Given the description of an element on the screen output the (x, y) to click on. 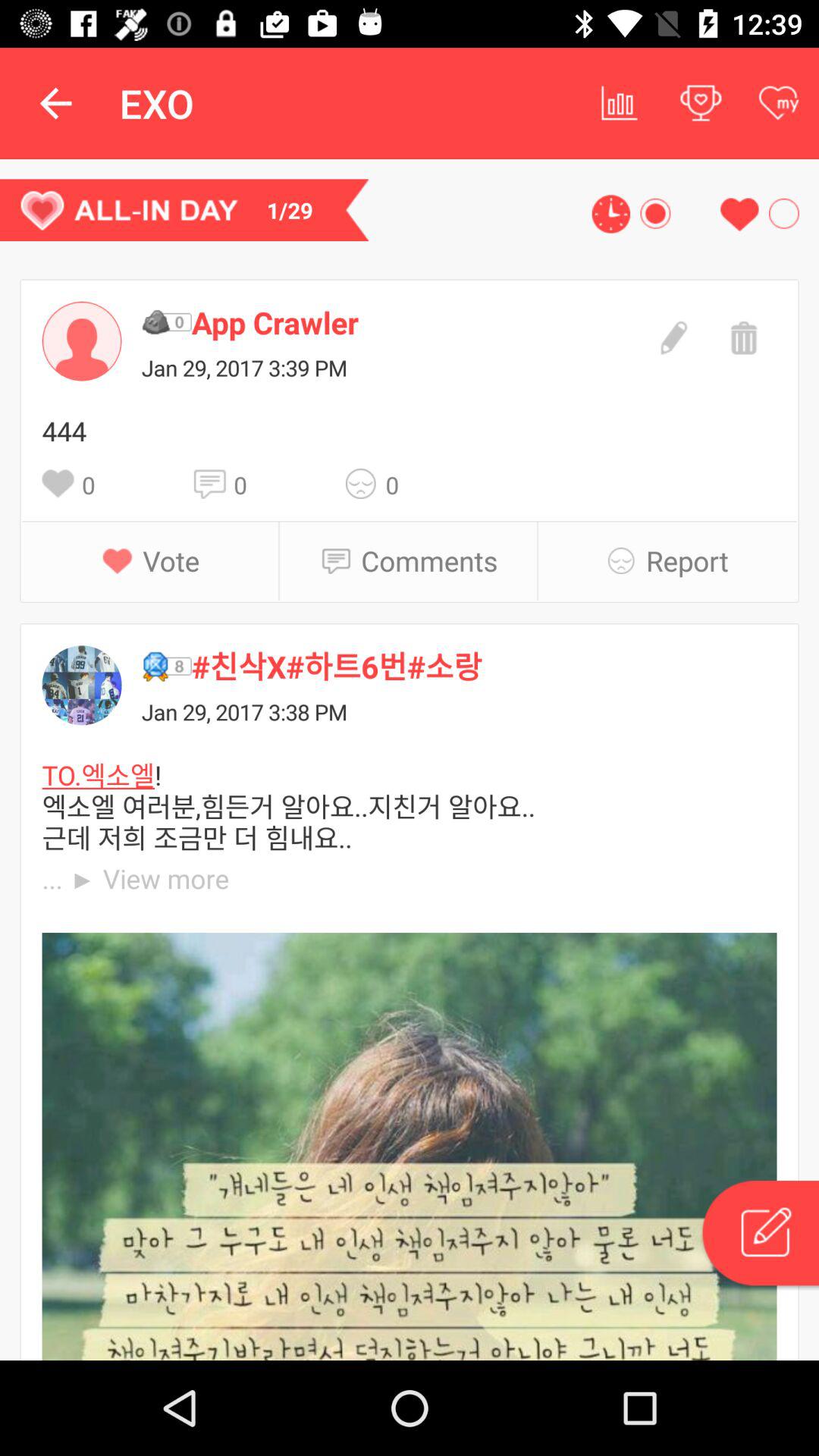
launch the item next to the report item (626, 560)
